Given the description of an element on the screen output the (x, y) to click on. 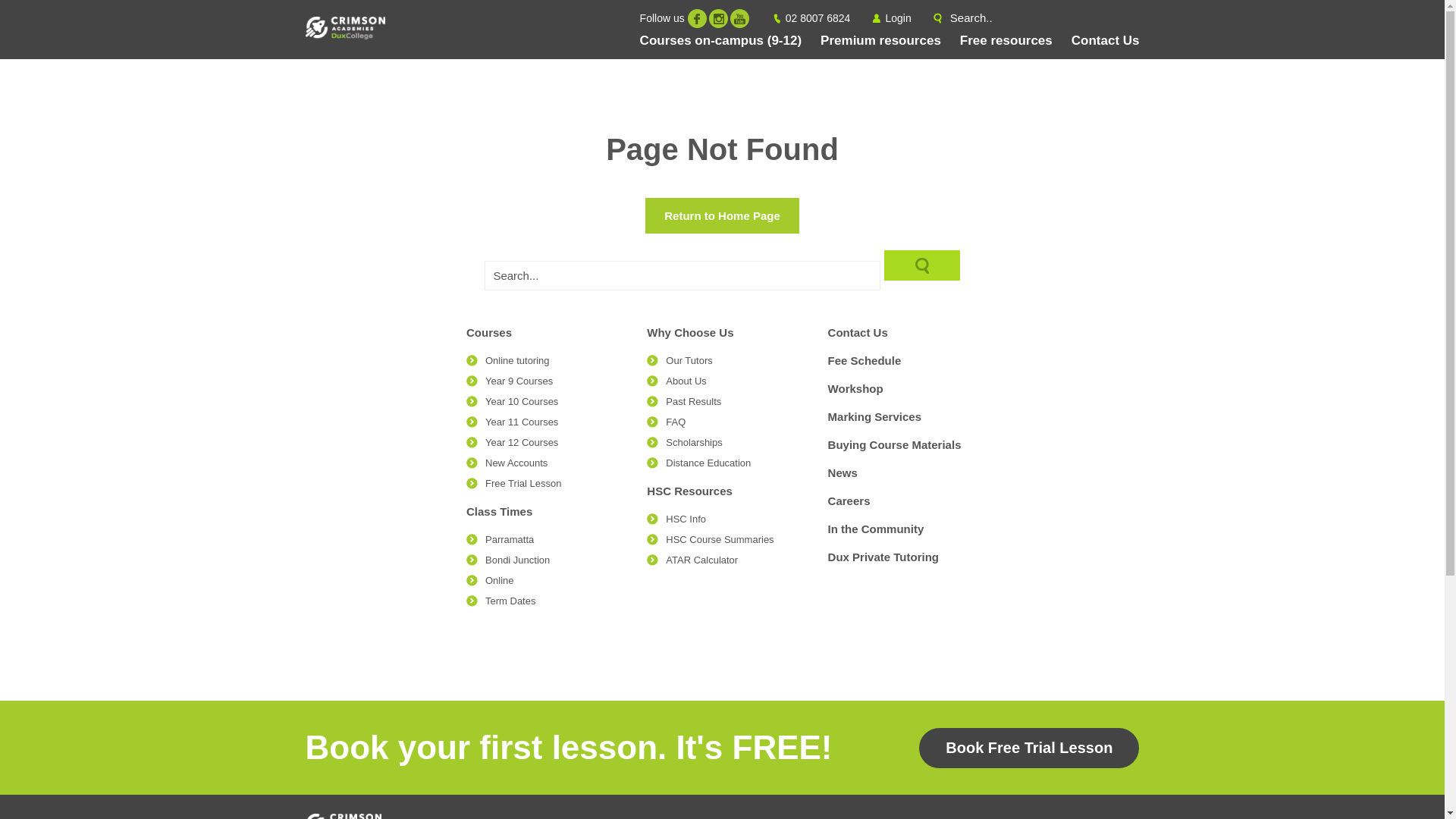
Careers Element type: text (849, 500)
Our Tutors Element type: text (688, 360)
Contact Us Element type: text (858, 332)
Year 9 Courses Element type: text (518, 380)
Book Free Trial Lesson Element type: text (1029, 748)
Marking Services Element type: text (874, 416)
About Us Element type: text (685, 380)
HSC Info Element type: text (685, 518)
Return to Home Page Element type: text (722, 215)
Workshop Element type: text (855, 388)
Buying Course Materials Element type: text (894, 444)
Online Element type: text (499, 580)
Login Element type: text (897, 18)
Premium resources Element type: text (880, 40)
Past Results Element type: text (693, 401)
Free resources Element type: text (1006, 40)
Courses Element type: text (488, 332)
FAQ Element type: text (675, 421)
Year 12 Courses Element type: text (521, 442)
Dux Private Tutoring Element type: text (883, 556)
Why Choose Us Element type: text (689, 332)
Contact Us Element type: text (1105, 40)
Year 11 Courses Element type: text (521, 421)
New Accounts Element type: text (516, 462)
News Element type: text (842, 472)
02 8007 6824 Element type: text (817, 18)
Parramatta Element type: text (509, 539)
HSC Course Summaries Element type: text (719, 539)
Bondi Junction Element type: text (517, 559)
Free Trial Lesson Element type: text (523, 483)
Online tutoring Element type: text (517, 360)
Scholarships Element type: text (693, 442)
Term Dates Element type: text (510, 600)
Distance Education Element type: text (707, 462)
In the Community Element type: text (876, 528)
Fee Schedule Element type: text (864, 360)
HSC Resources Element type: text (689, 490)
ATAR Calculator Element type: text (701, 559)
Search Element type: text (922, 265)
Year 10 Courses Element type: text (521, 401)
Courses on-campus (9-12) Element type: text (721, 40)
Class Times Element type: text (499, 511)
